Given the description of an element on the screen output the (x, y) to click on. 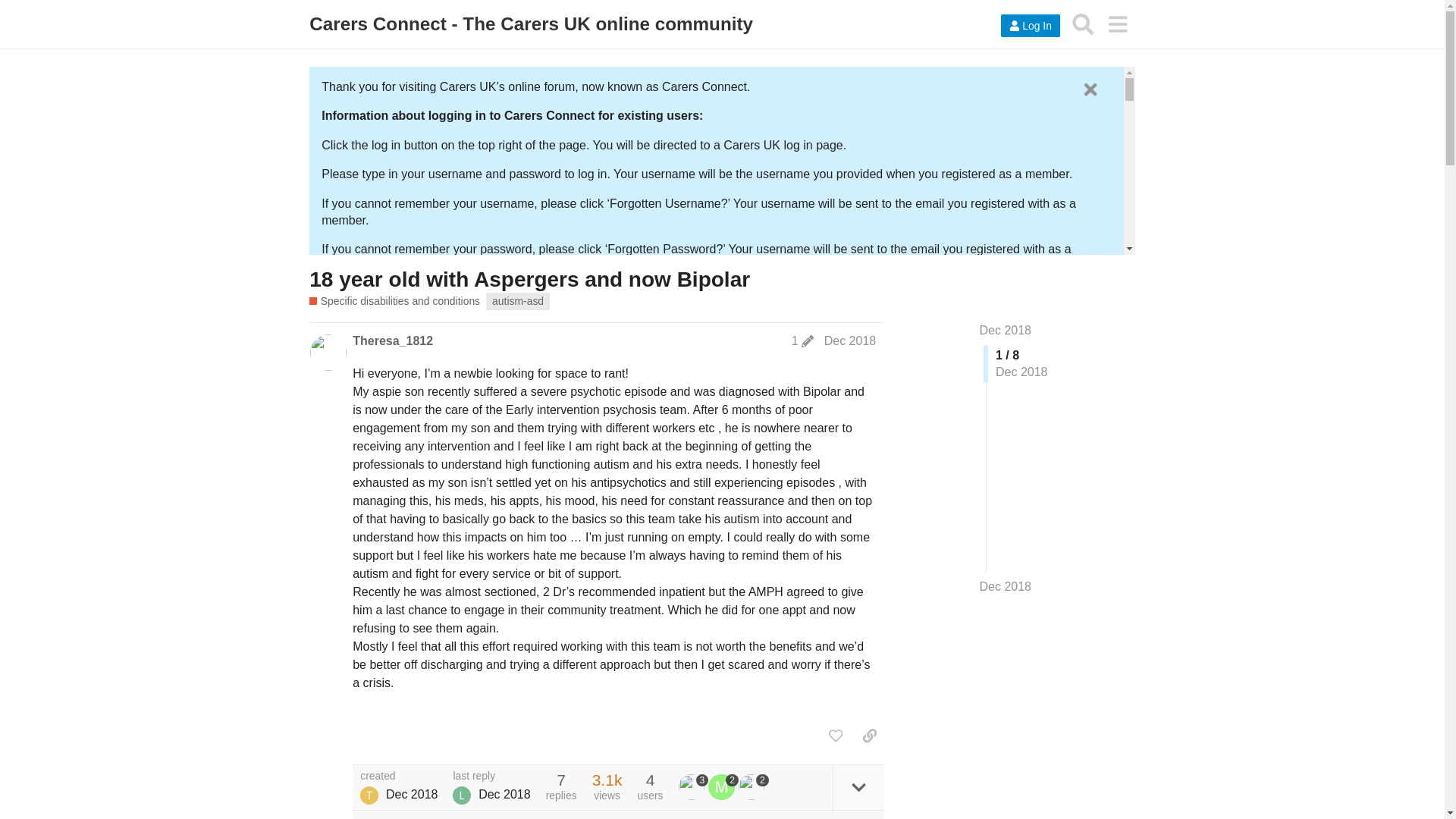
copy a link to this post to clipboard (869, 735)
18 year old with Aspergers and now Bipolar (528, 279)
3 (693, 786)
Londonbound (461, 795)
expand topic details (857, 786)
last reply (490, 776)
Search (1082, 23)
Discourse New User Guide - users - Docs - Discourse Meta (712, 517)
Carers Connect - The Carers UK online community (530, 23)
6 Dec 2018 04:19 (411, 793)
1 (802, 341)
Dec 2018 (850, 340)
menu (1117, 23)
Jump to the first post (1005, 329)
Dec 2018 (1005, 329)
